Given the description of an element on the screen output the (x, y) to click on. 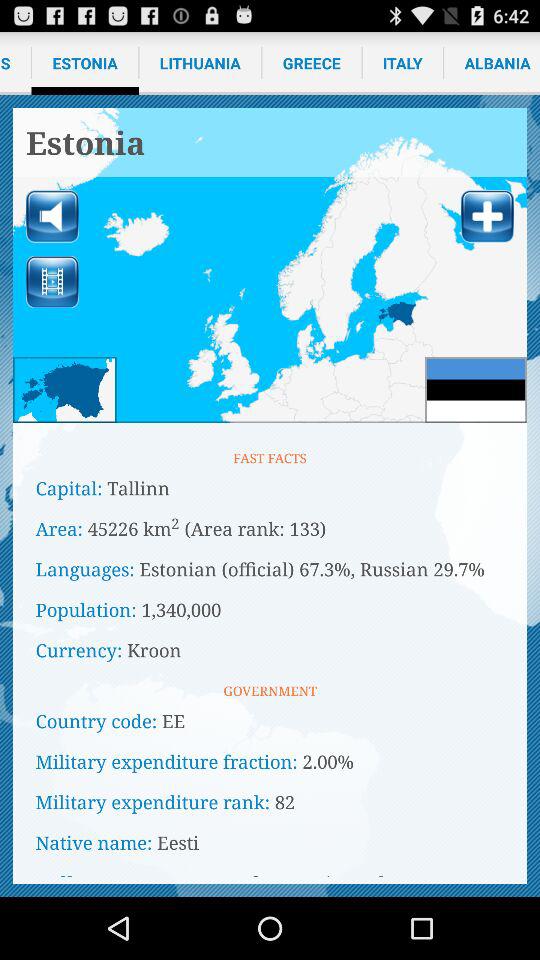
country in the picture (64, 389)
